Given the description of an element on the screen output the (x, y) to click on. 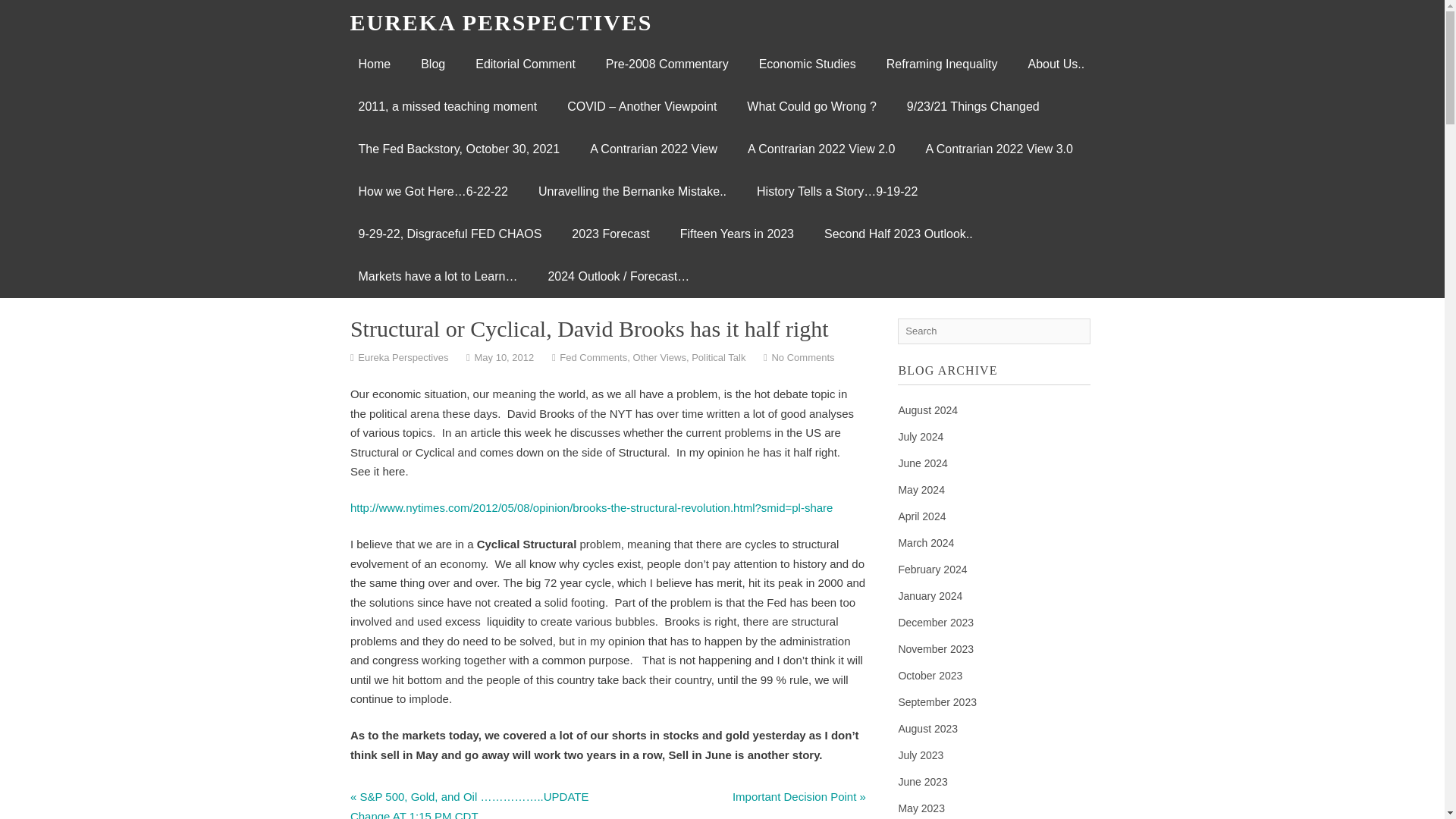
2011, a missed teaching moment (446, 106)
No Comments (802, 357)
Political Talk (718, 357)
9-29-22, Disgraceful FED CHAOS (449, 233)
A Contrarian 2022 View 2.0 (821, 148)
A Contrarian 2022 View (653, 148)
EUREKA PERSPECTIVES (501, 22)
Home (374, 64)
What Could go Wrong ? (811, 106)
Second Half 2023 Outlook.. (898, 233)
Blog (433, 64)
Fifteen Years in 2023 (737, 233)
About Us.. (1055, 64)
Skip to content (397, 64)
Editorial Comment (525, 64)
